Given the description of an element on the screen output the (x, y) to click on. 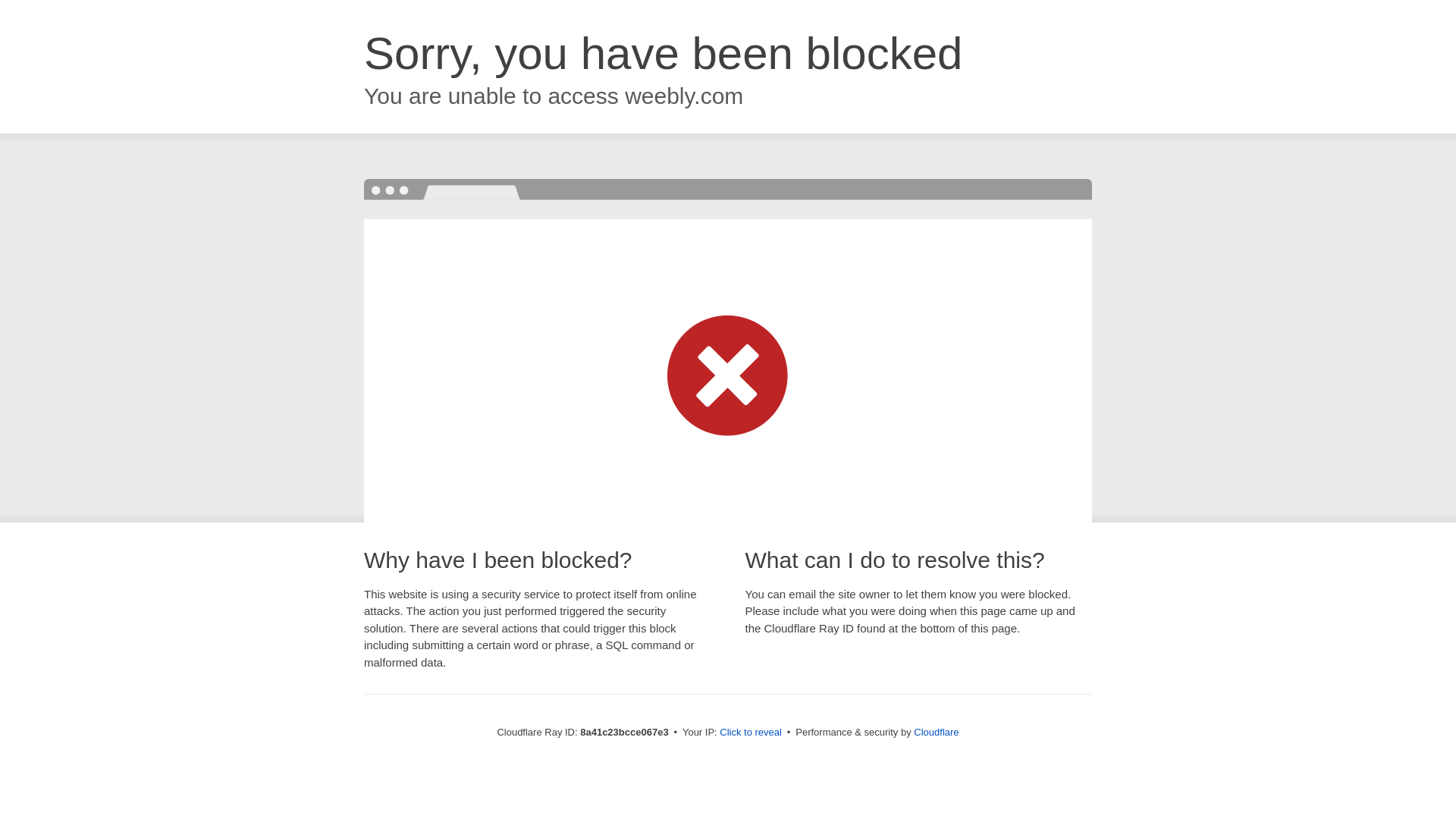
Cloudflare (936, 731)
Click to reveal (750, 732)
